Given the description of an element on the screen output the (x, y) to click on. 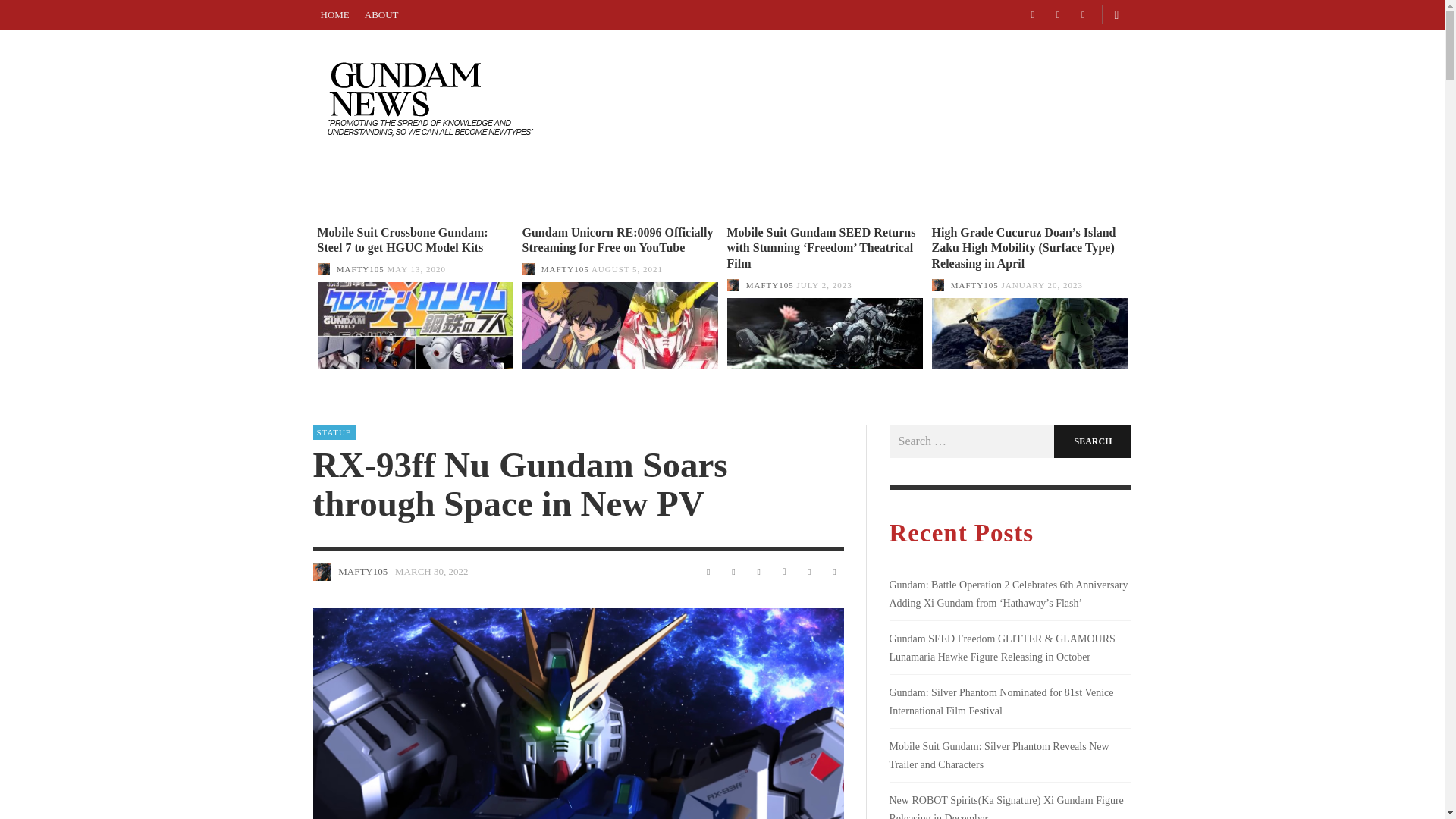
Search (1092, 441)
Search (1092, 441)
ABOUT (751, 187)
ABOUT (381, 15)
HOME (334, 15)
HOME (689, 187)
